Given the description of an element on the screen output the (x, y) to click on. 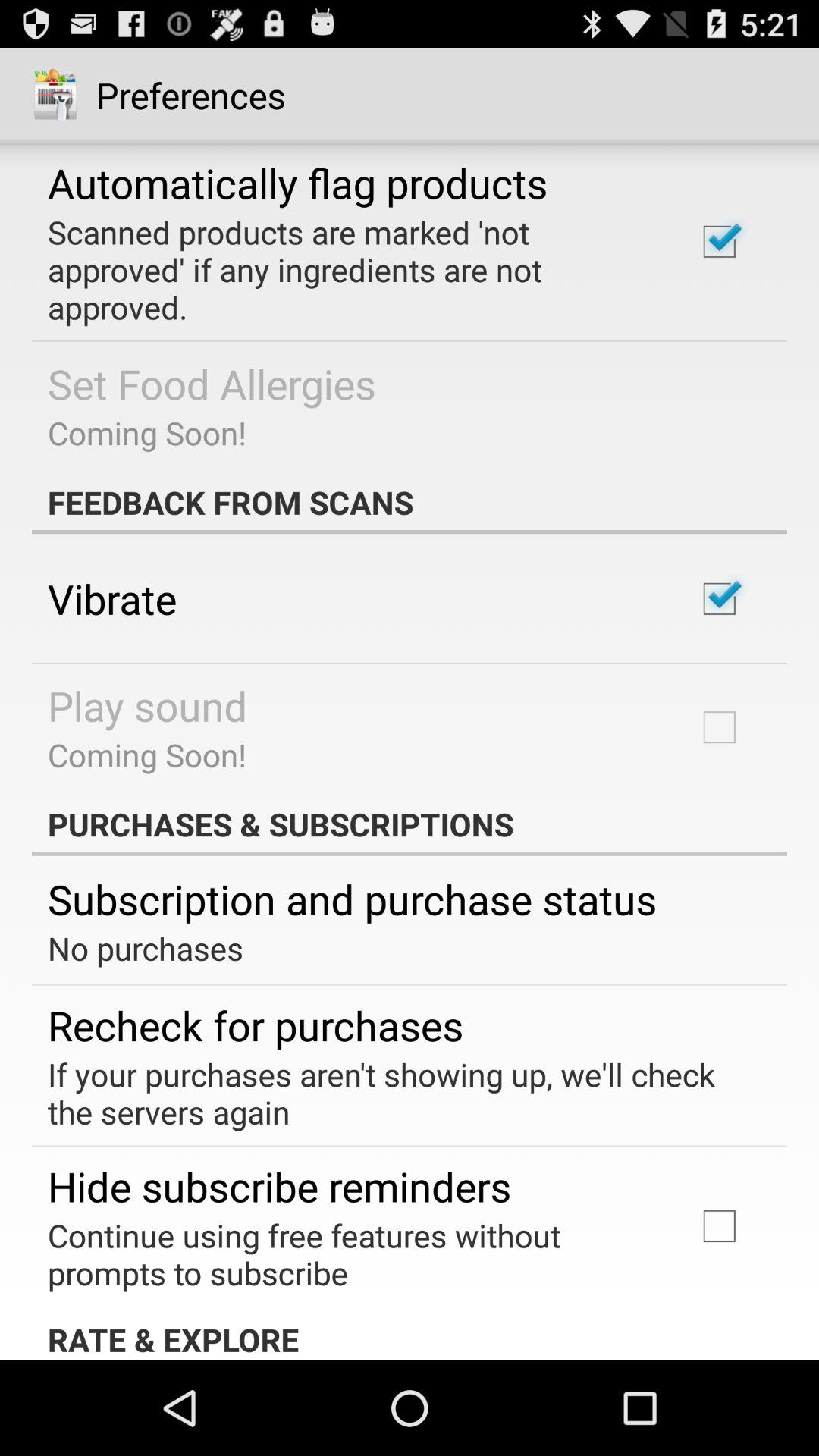
click the no purchases app (145, 947)
